Given the description of an element on the screen output the (x, y) to click on. 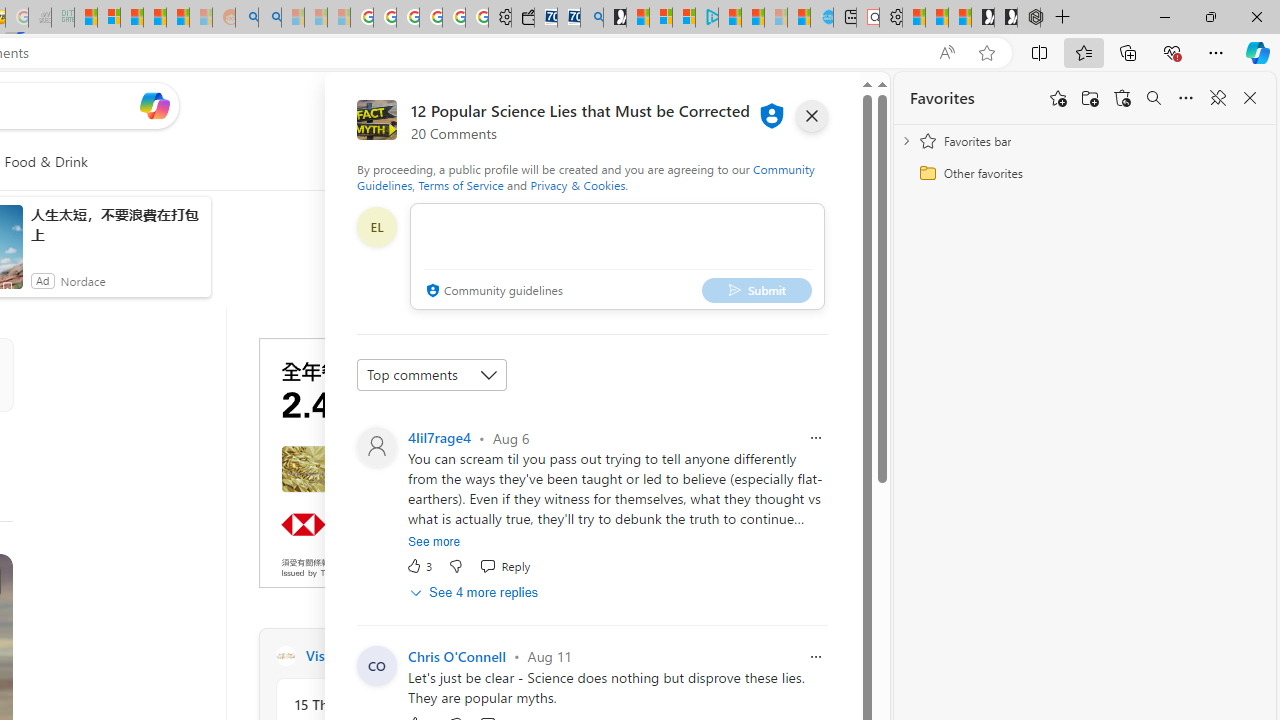
Utah sues federal government - Search (269, 17)
Chris O'Connell (456, 655)
Community guidelines (492, 291)
Terms of Service (461, 184)
close (812, 115)
Class: qc-adchoices-link top-right  (548, 344)
Craft Your Happy Place (285, 655)
